Given the description of an element on the screen output the (x, y) to click on. 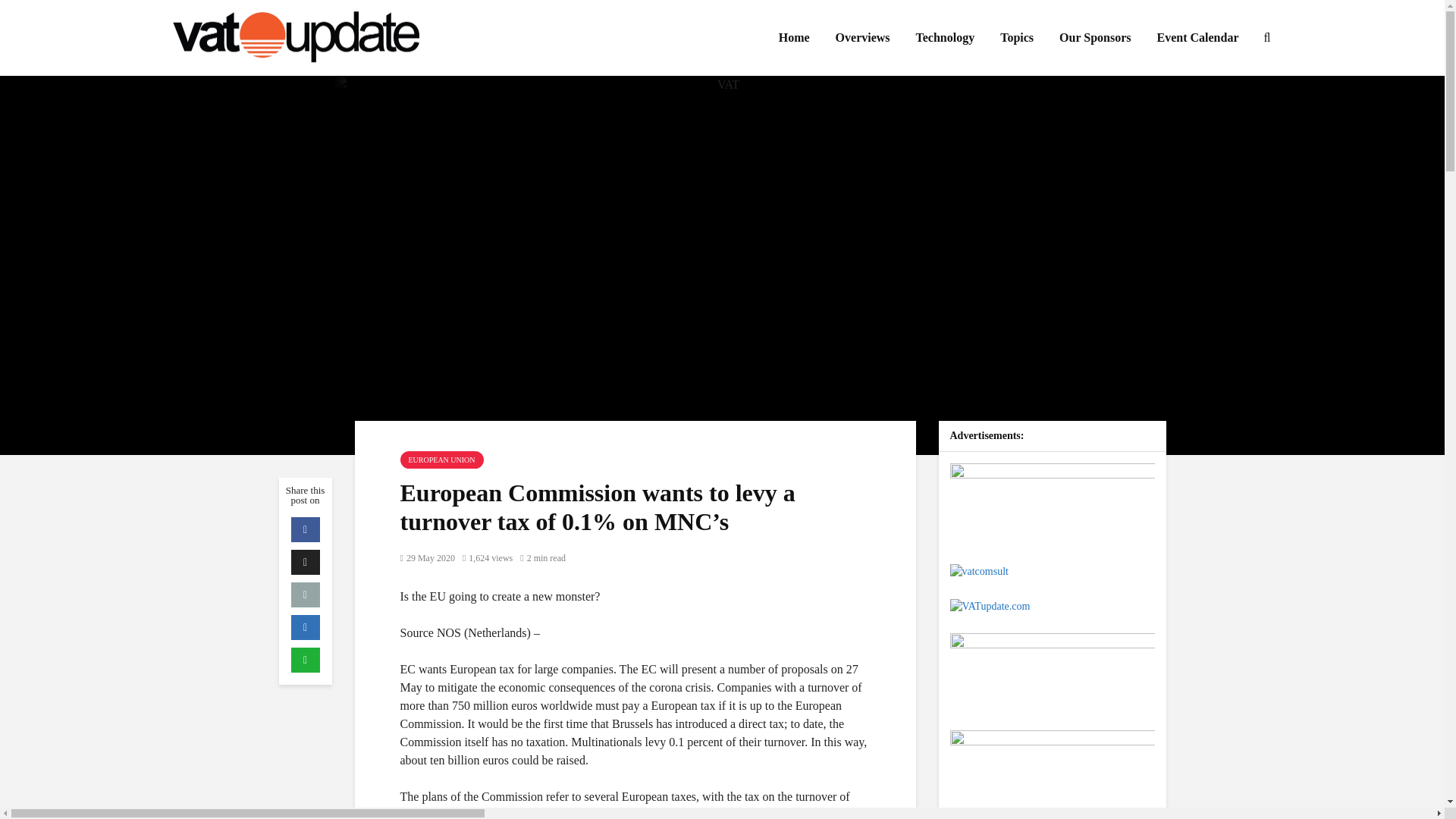
EUROPEAN UNION (441, 459)
Event Calendar (1196, 37)
Overviews (862, 37)
Technology (945, 37)
SNI (1051, 769)
VATAI (989, 604)
Topics (1016, 37)
FINTEDU (1051, 671)
AVASK (1051, 502)
Our Sponsors (1094, 37)
Home (794, 37)
VAT CONSULT (978, 571)
